Given the description of an element on the screen output the (x, y) to click on. 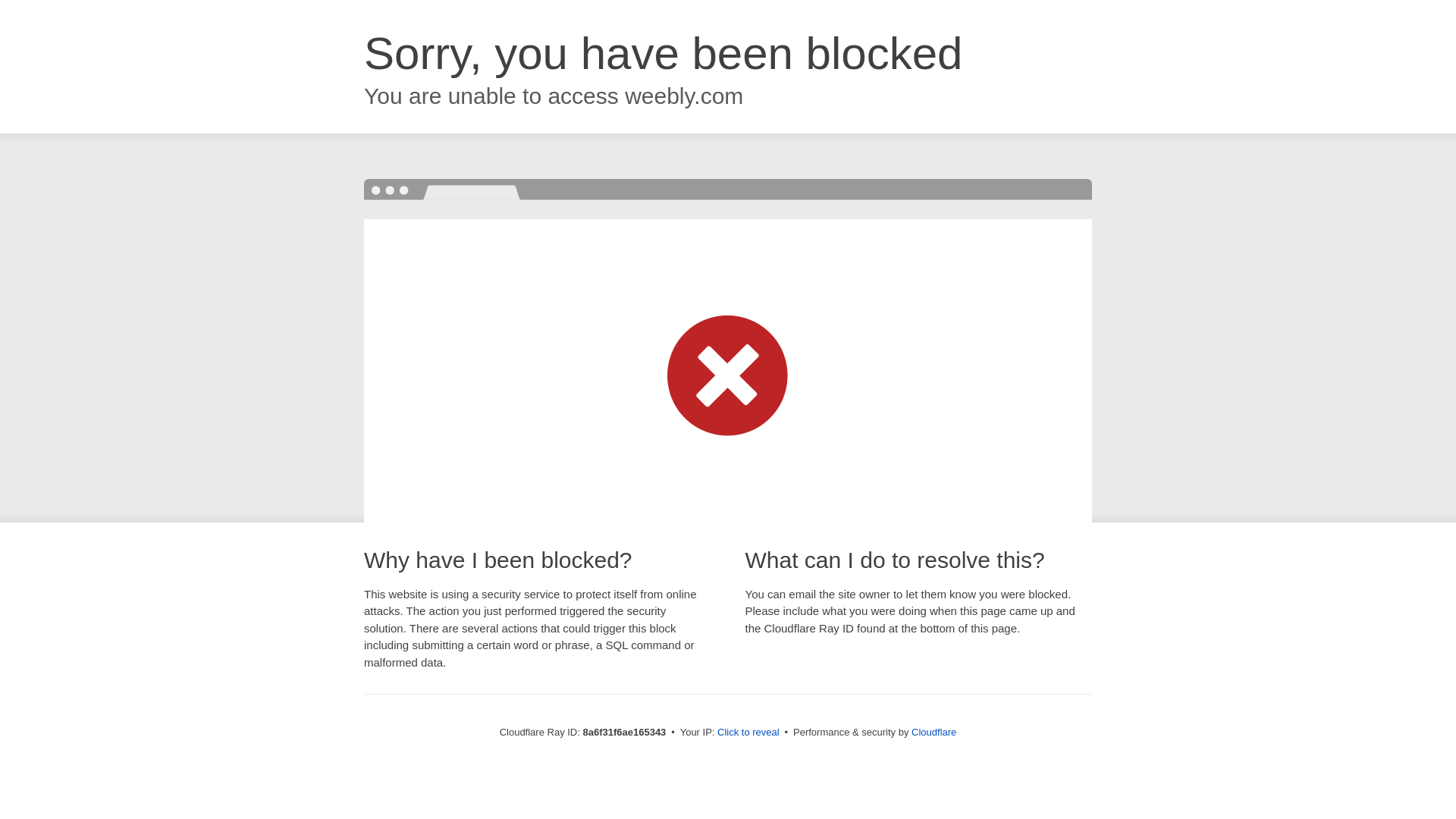
Cloudflare (933, 731)
Click to reveal (747, 732)
